Given the description of an element on the screen output the (x, y) to click on. 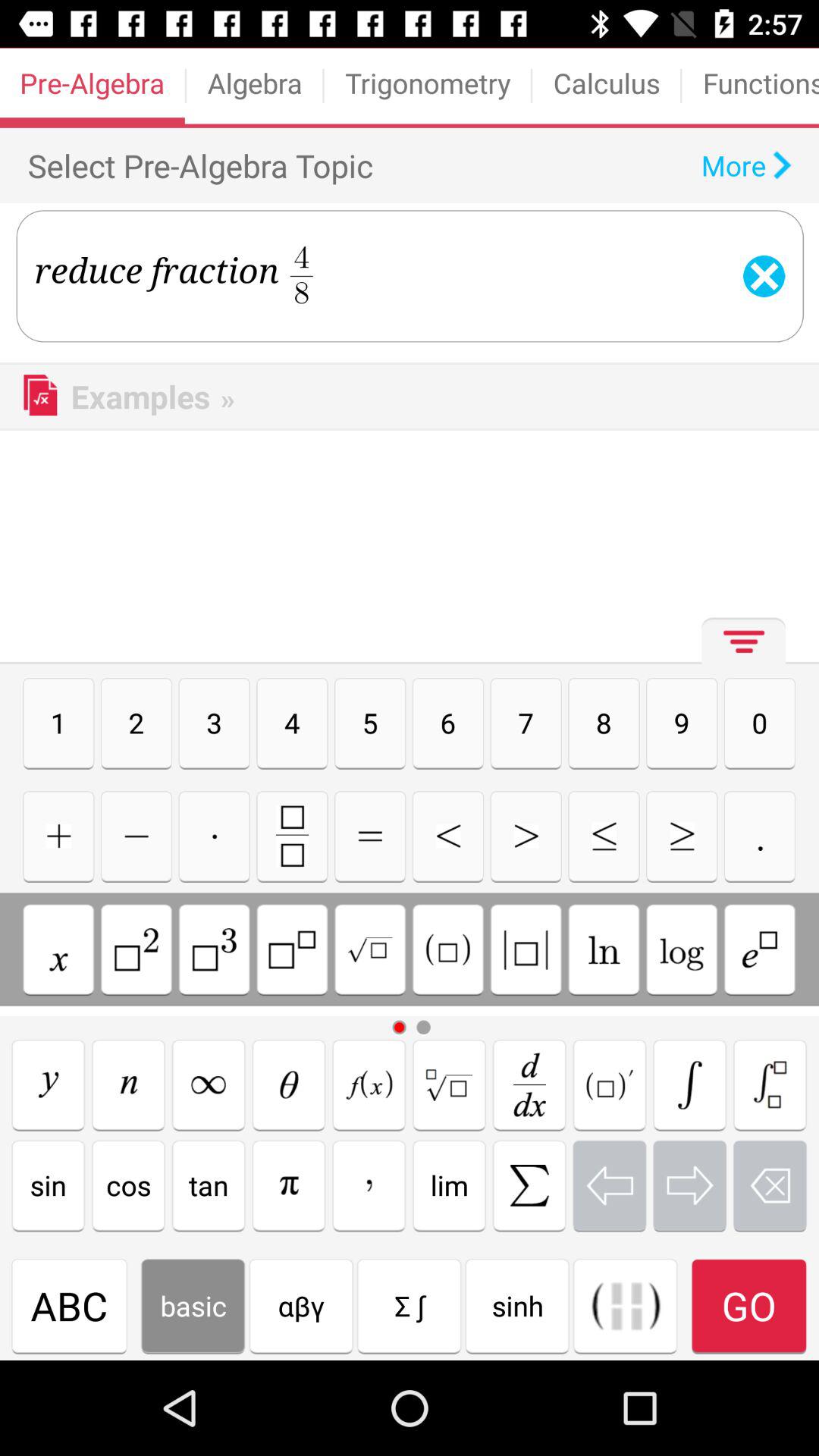
multtbull button (370, 835)
